Given the description of an element on the screen output the (x, y) to click on. 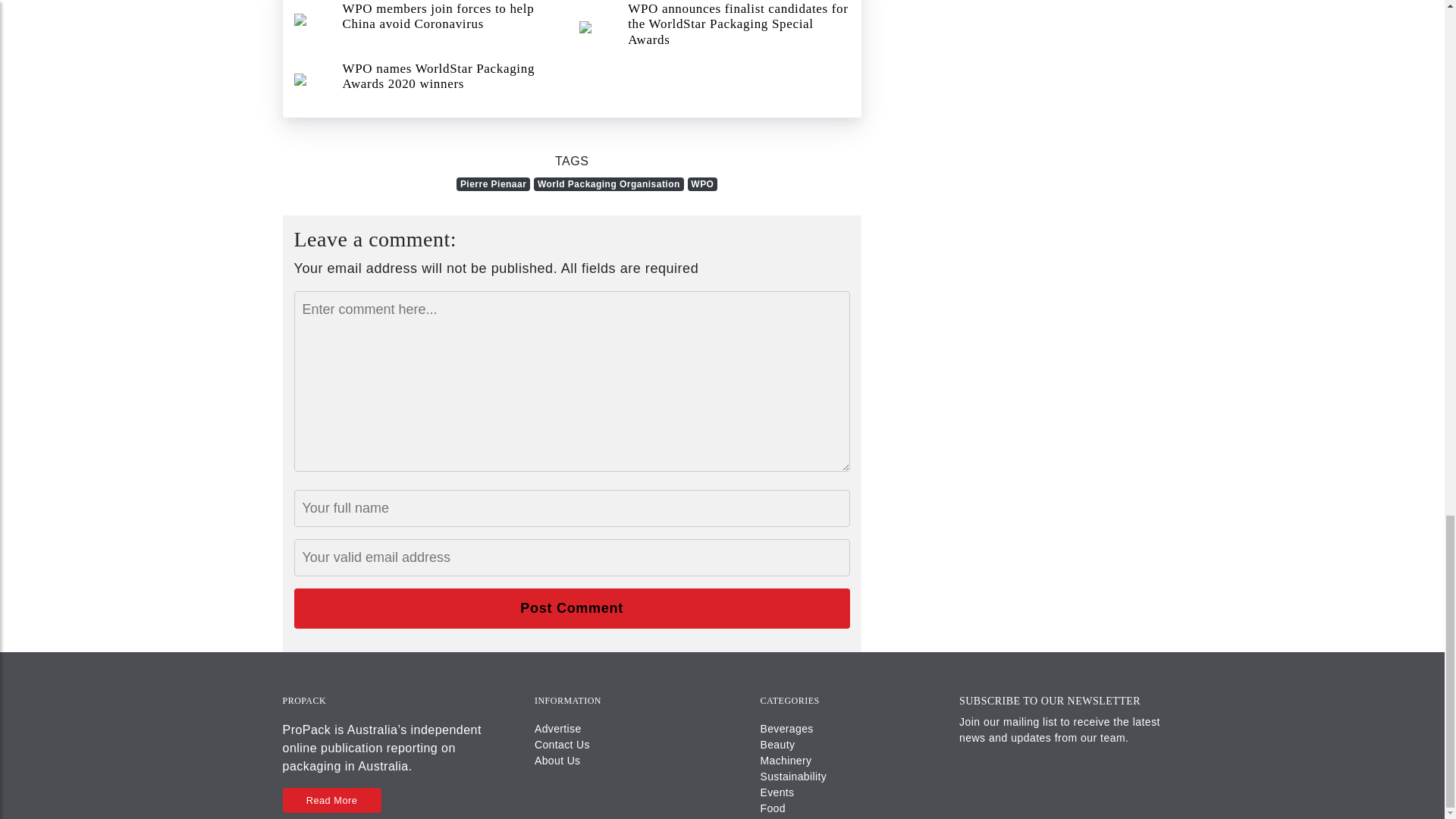
WPO members join forces to help China avoid Coronavirus (429, 21)
WPO names WorldStar Packaging Awards 2020 winners (429, 79)
Pierre Pienaar (493, 183)
WPO (702, 183)
World Packaging Organisation (609, 183)
Post Comment (572, 608)
Post Comment (572, 608)
